Given the description of an element on the screen output the (x, y) to click on. 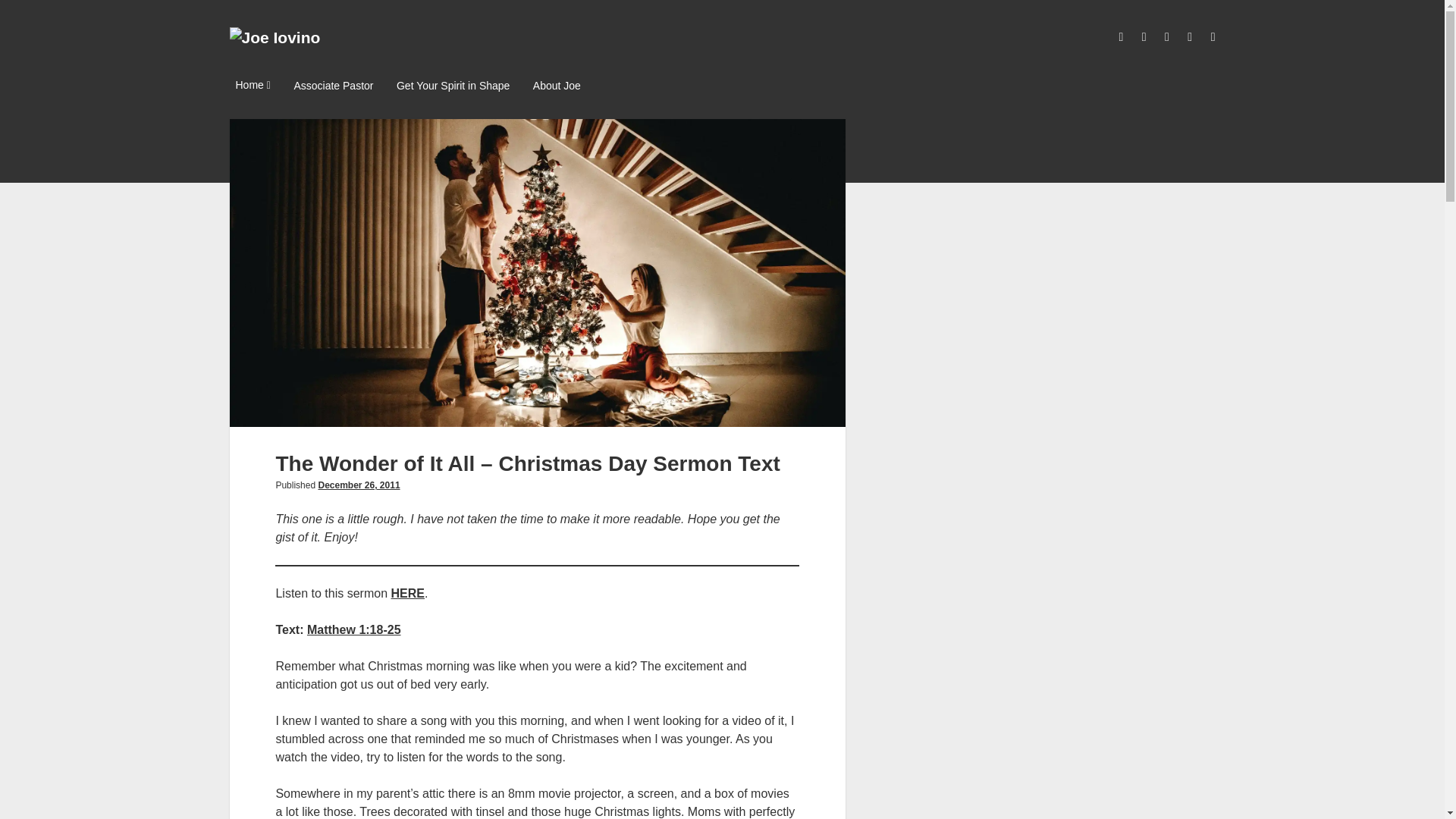
December 26, 2011 (357, 484)
Tri-Lakes United Methodist Church sermon podcast page (408, 593)
New Revised Standard Version (354, 629)
HERE (408, 593)
Associate Pastor (332, 85)
Joe Iovino (274, 36)
About Joe (556, 85)
Get Your Spirit in Shape (452, 85)
Home (252, 86)
Matthew 1:18-25 (354, 629)
